Given the description of an element on the screen output the (x, y) to click on. 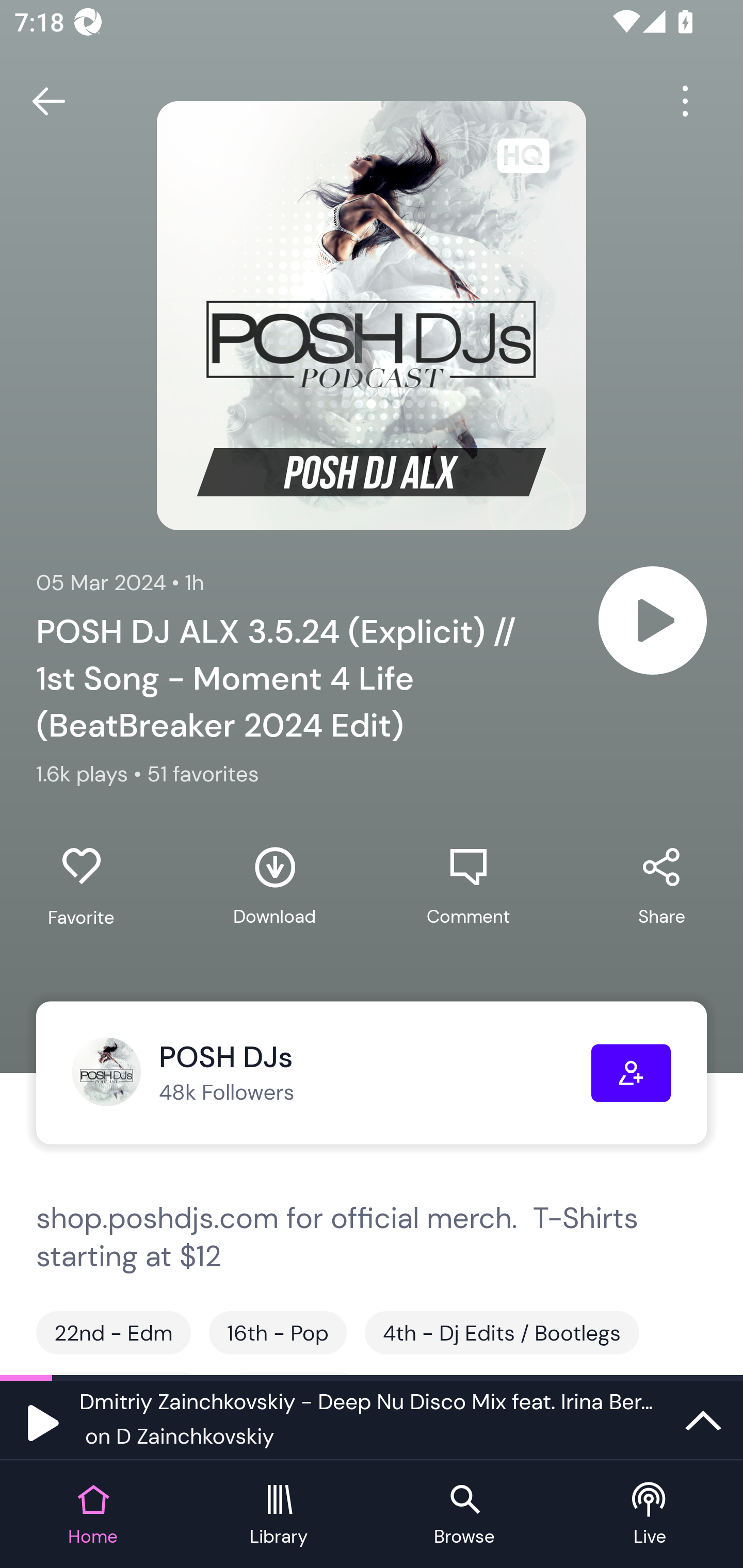
51 favorites (203, 773)
Favorite (81, 886)
Download (274, 886)
Comment (467, 886)
Share (661, 886)
POSH DJs, 48k Followers POSH DJs 48k Followers (331, 1073)
Follow (630, 1073)
22nd - Edm (113, 1332)
16th - Pop (277, 1332)
4th - Dj Edits / Bootlegs (501, 1332)
Home tab Home (92, 1515)
Library tab Library (278, 1515)
Browse tab Browse (464, 1515)
Live tab Live (650, 1515)
